Given the description of an element on the screen output the (x, y) to click on. 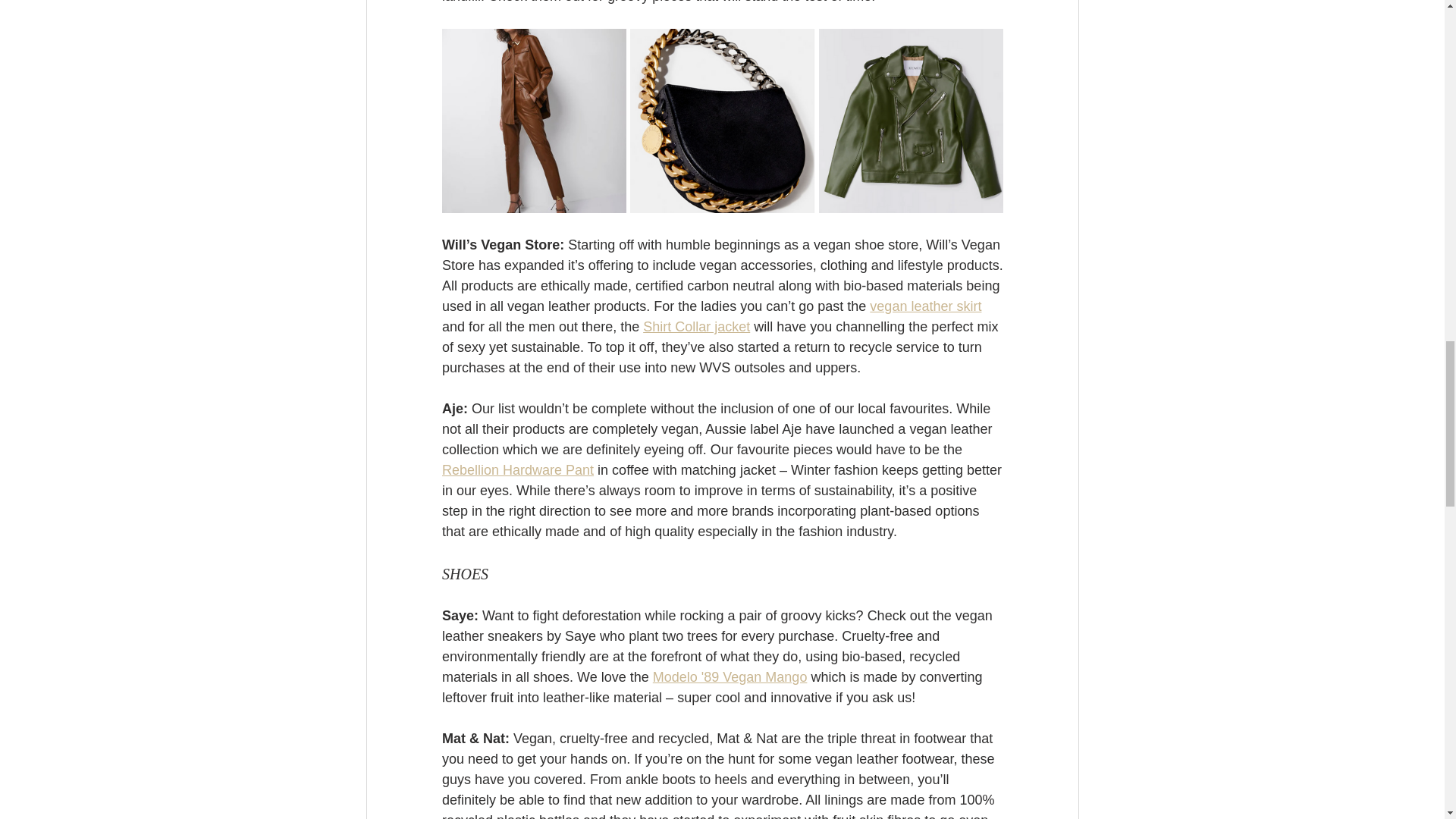
Rebellion Hardware Pant (516, 469)
Modelo '89 Vegan Mango (729, 676)
Shirt Collar jacket (696, 326)
vegan leather skirt (925, 305)
